Given the description of an element on the screen output the (x, y) to click on. 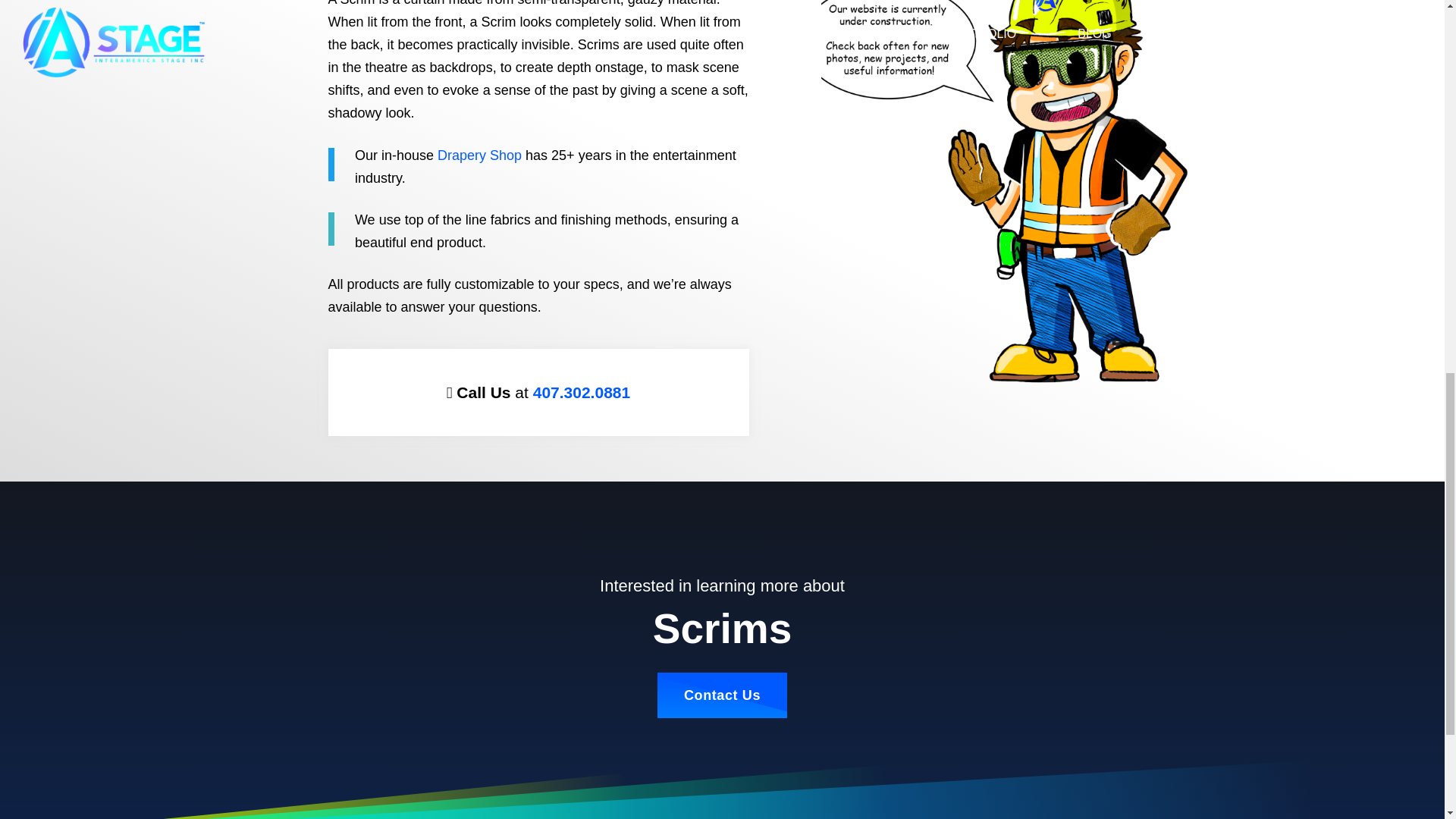
Contact Us (722, 695)
407.302.0881 (581, 392)
Drapery Shop (479, 155)
